Given the description of an element on the screen output the (x, y) to click on. 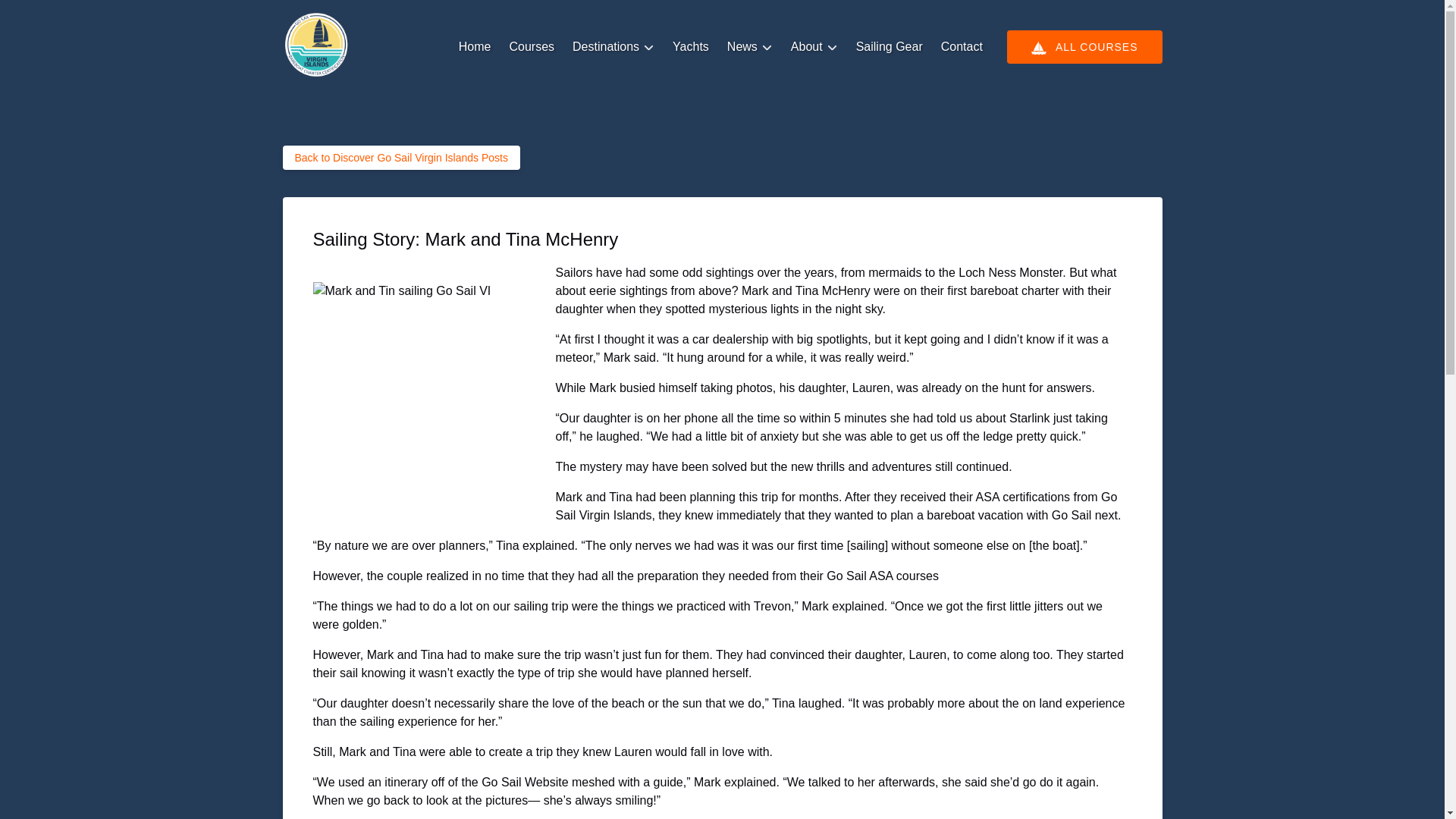
Skip to primary navigation (77, 16)
SAILBOAT (1038, 47)
Skip to content (47, 16)
Destinations (613, 46)
Skip to footer (42, 16)
Courses (531, 46)
Yachts (690, 46)
News (749, 46)
Back to Discover Go Sail Virgin Islands Posts (400, 157)
Sailing Gear (889, 46)
